Given the description of an element on the screen output the (x, y) to click on. 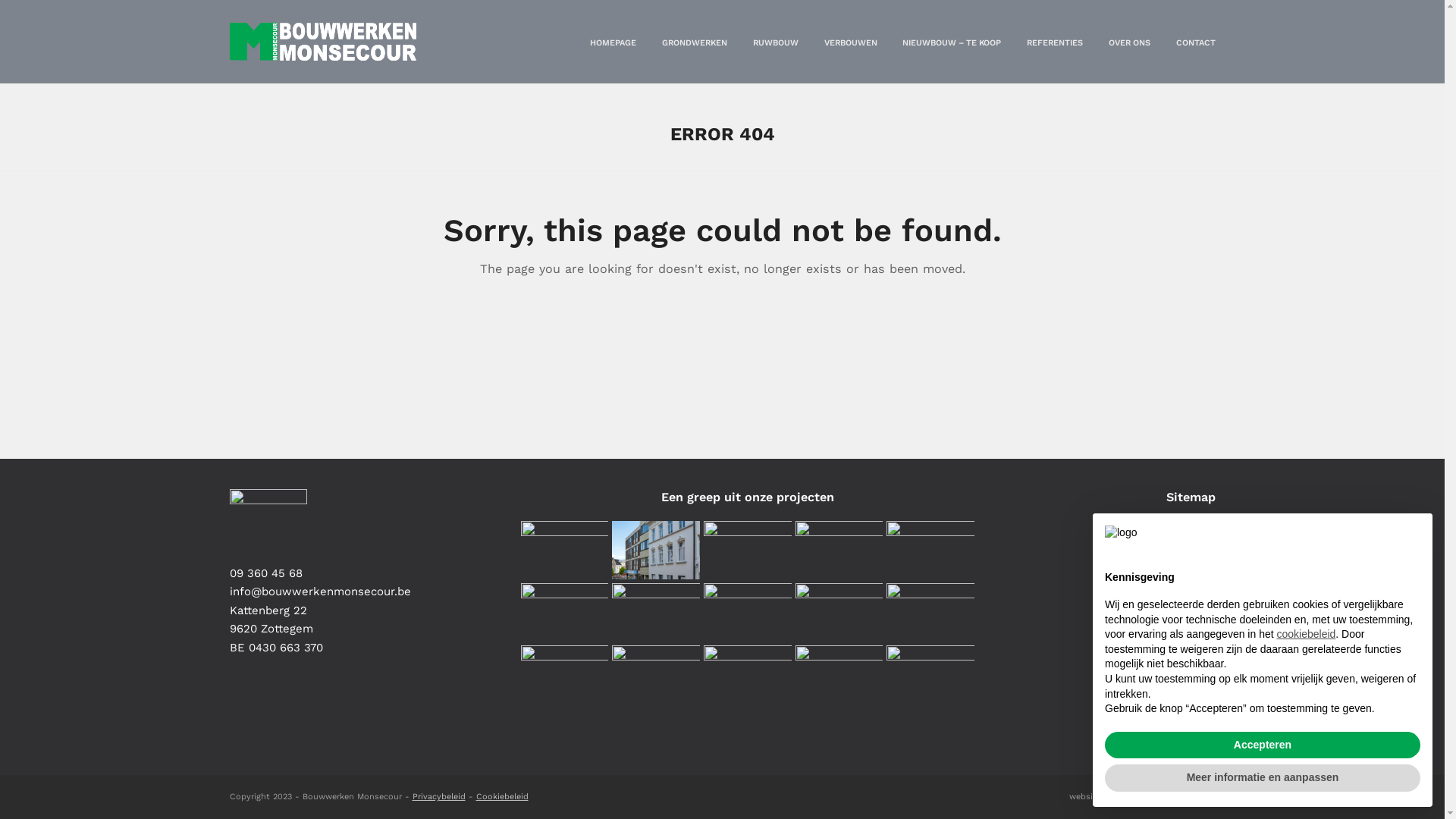
Project Sint-Maria-Oudenhove Element type: hover (839, 673)
Privacybeleid Element type: text (438, 796)
info@bouwwerkenmonsecour.be Element type: text (319, 591)
Appartementen Grotenberge Element type: hover (839, 611)
Meer informatie en aanpassen Element type: text (1262, 777)
09 360 45 68 Element type: text (265, 573)
OVER ONS Element type: text (1129, 41)
RUWBOUW Element type: text (775, 41)
Verbouwen Element type: text (1183, 625)
Cookiebeleid Element type: text (502, 796)
Ruwbouw Element type: text (1187, 595)
Project Zottegem Element type: hover (564, 611)
Appartementen Zottegem Element type: hover (930, 549)
Referenties Element type: text (1183, 685)
Homepage Element type: text (1186, 535)
Contact Element type: text (1193, 744)
Nieuwbouw Sint-Maria-Oudenhove Element type: hover (655, 673)
Appartementen Balegem Element type: hover (747, 549)
VERBOUWEN Element type: text (849, 41)
Grondwerken Element type: text (1177, 565)
Nieuwbouw Erwetegem Element type: hover (564, 673)
Nieuwbouw Velzeke Element type: hover (930, 673)
GRONDWERKEN Element type: text (694, 41)
Nieuwbouw Sint-Maria-Lierde Element type: hover (564, 549)
bretel.website Element type: text (1186, 796)
REFERENTIES Element type: text (1054, 41)
Over ons Element type: text (1190, 714)
Accepteren Element type: text (1262, 745)
cookiebeleid Element type: text (1305, 633)
Nieuwbouw Herzele Element type: hover (839, 549)
Nieuwbouw Erwetegem Element type: hover (747, 611)
HOMEPAGE Element type: text (612, 41)
Handelspand + appartementen Zottegem Element type: hover (655, 549)
Nieuwbouw Godveerdegem Element type: hover (747, 673)
Nieuwbouw Erwetegem Element type: hover (655, 611)
Nieuwbouw Erwetegem Element type: hover (930, 611)
CONTACT Element type: text (1194, 41)
